Given the description of an element on the screen output the (x, y) to click on. 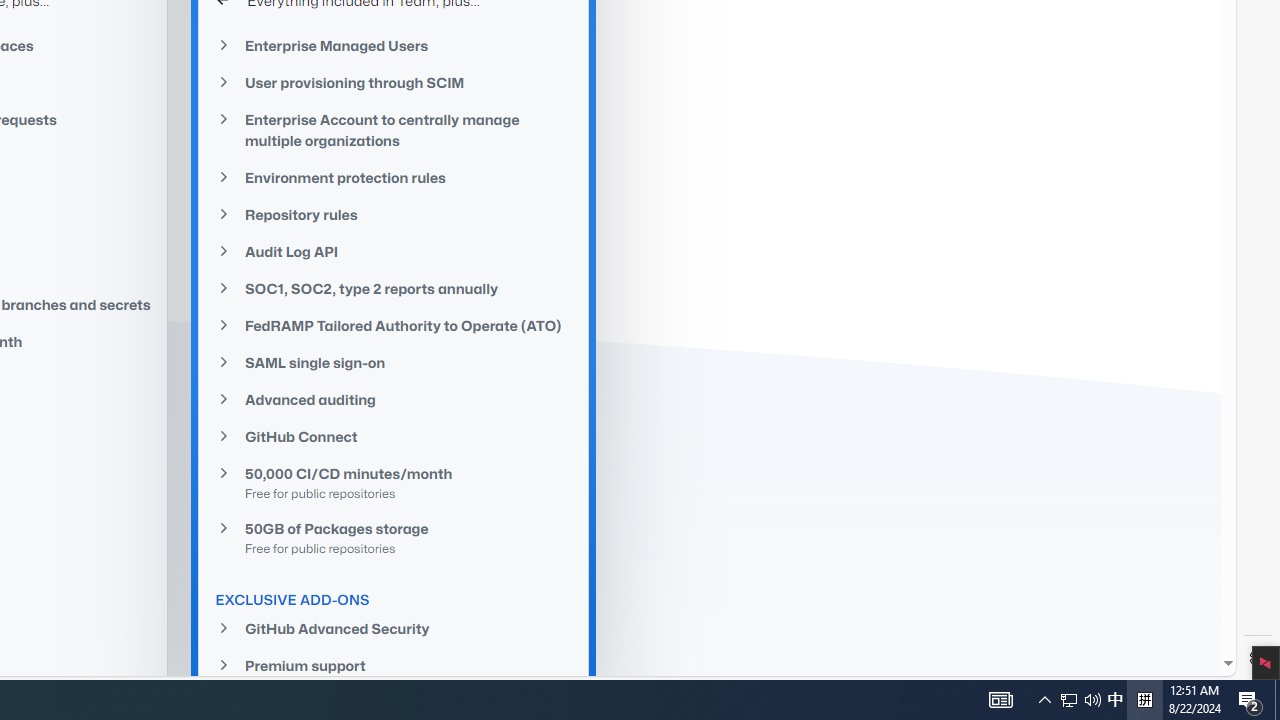
FedRAMP Tailored Authority to Operate (ATO) (394, 325)
Enterprise Managed Users (394, 45)
50GB of Packages storage Free for public repositories (394, 537)
GitHub Connect (394, 436)
User provisioning through SCIM (394, 83)
50,000 CI/CD minutes/month Free for public repositories (394, 483)
GitHub Advanced Security (394, 628)
GitHub Connect (394, 435)
Advanced auditing (394, 399)
Audit Log API (394, 251)
Enterprise Managed Users (394, 44)
Audit Log API (394, 250)
GitHub Advanced Security (394, 628)
SOC1, SOC2, type 2 reports annually (394, 288)
